Given the description of an element on the screen output the (x, y) to click on. 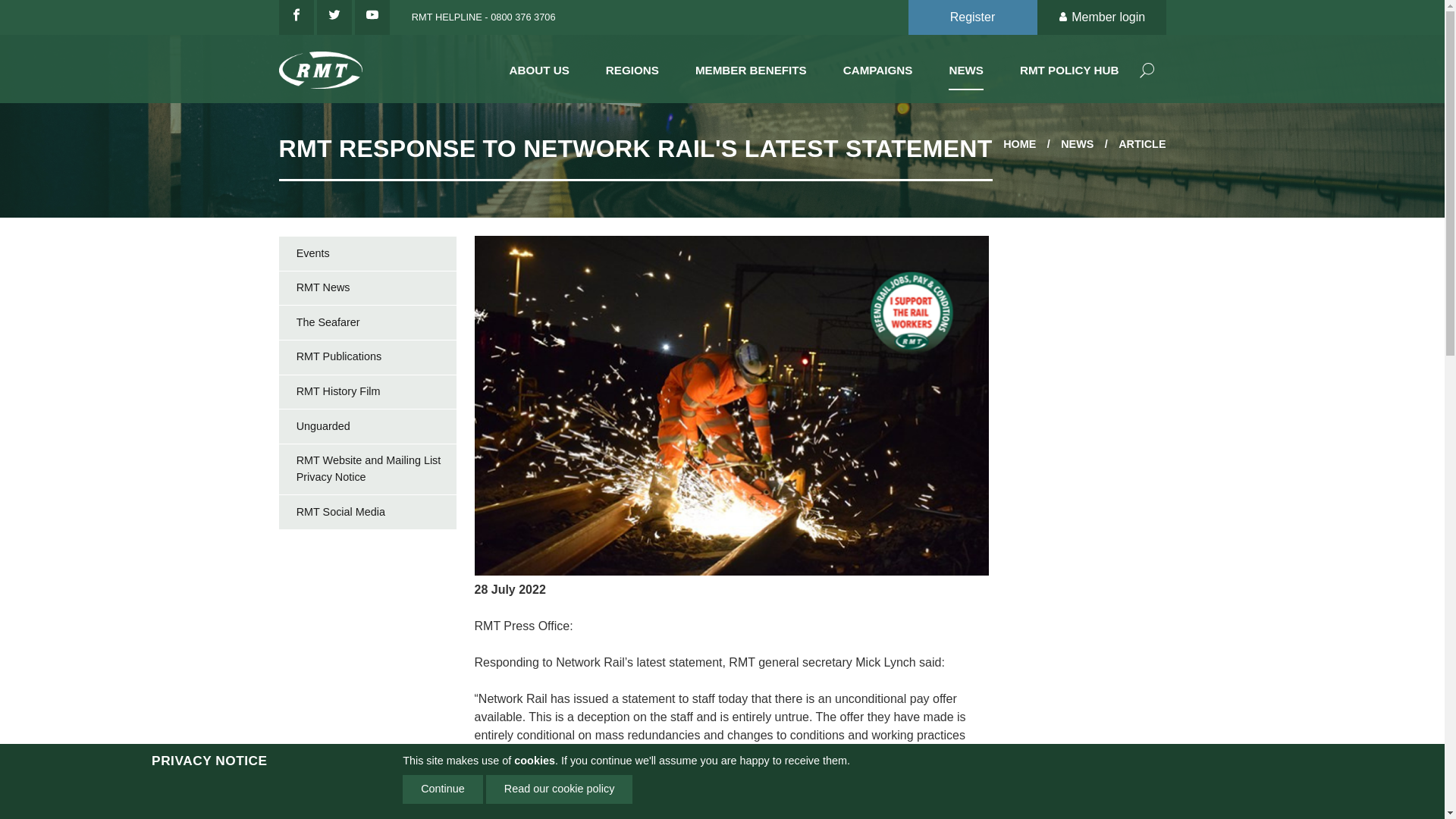
user (1064, 17)
Like us on Facebook (296, 17)
CAMPAIGNS (877, 67)
ABOUT US (539, 67)
Read our cookie policy (559, 788)
Follow us on Twitter (334, 17)
See our channel on YouTube (372, 17)
Member login (1101, 17)
Continue (443, 788)
HOME (1019, 144)
